Given the description of an element on the screen output the (x, y) to click on. 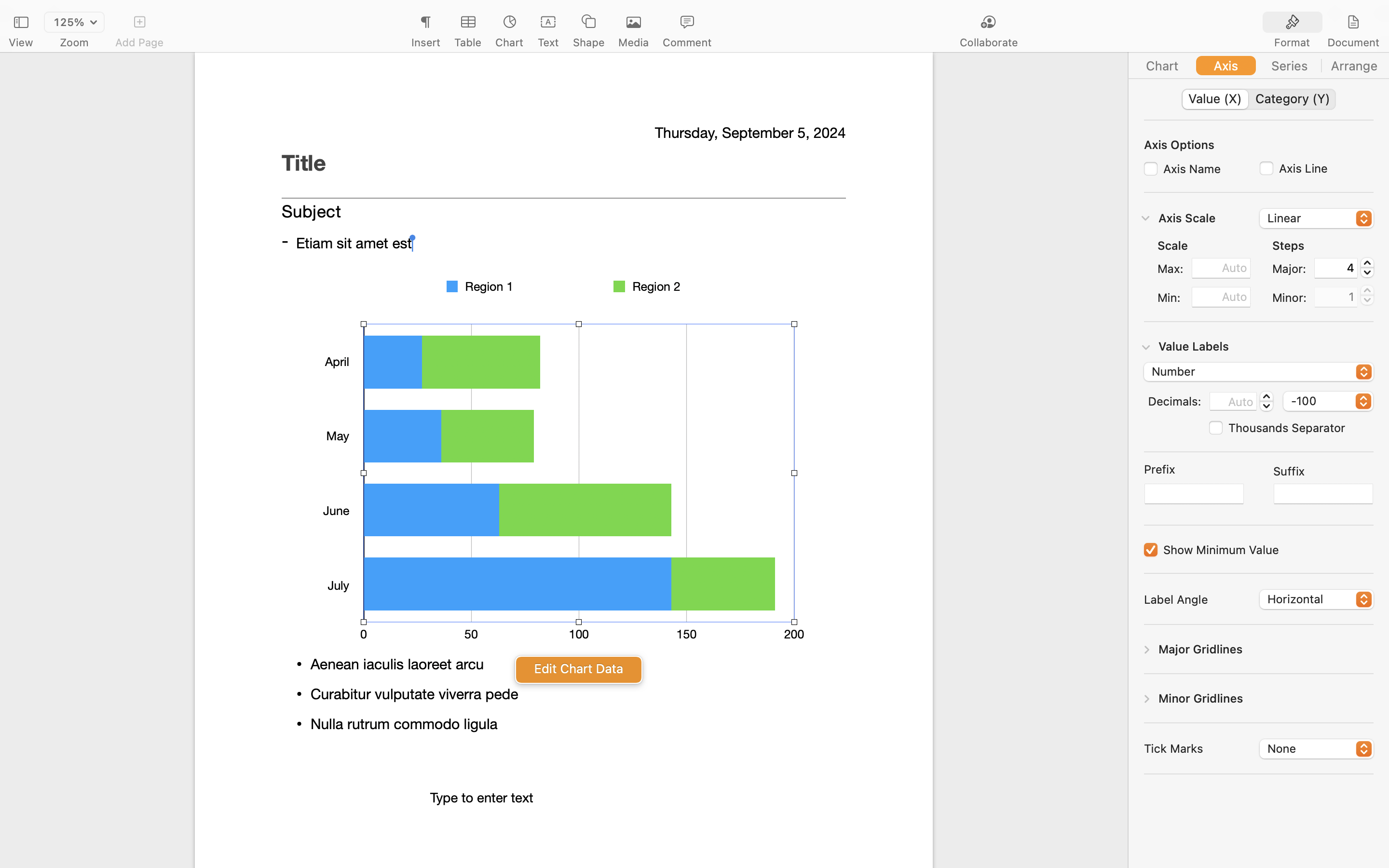
Zoom Element type: AXStaticText (73, 42)
4 Element type: AXTextField (1335, 267)
Tick Marks Element type: AXStaticText (1173, 747)
